Given the description of an element on the screen output the (x, y) to click on. 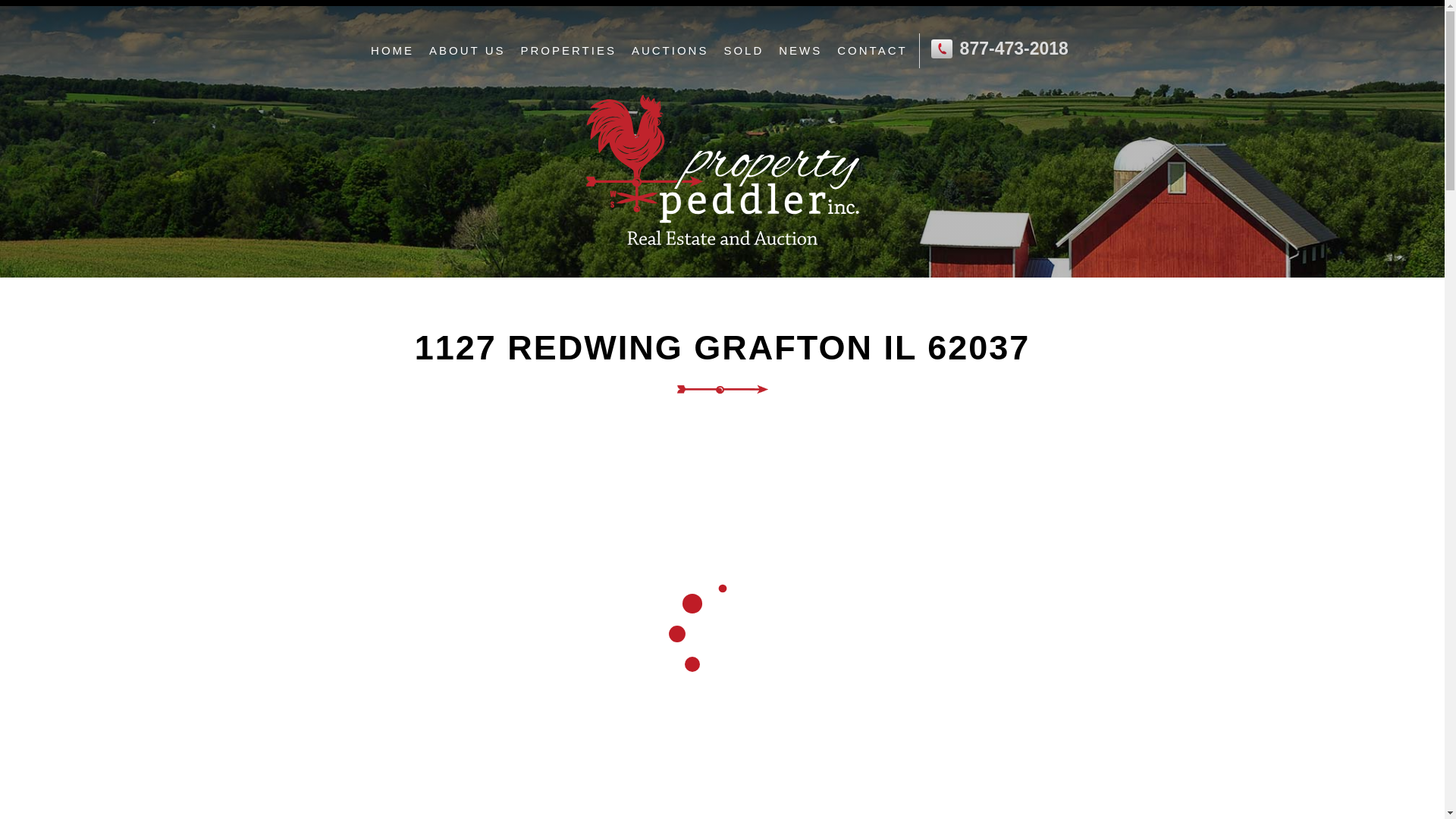
PROPERTIES (567, 50)
NEWS (800, 50)
ABOUT US (467, 50)
877-473-2018 (1013, 48)
AUCTIONS (670, 50)
HOME (392, 50)
SOLD (742, 50)
CONTACT (872, 50)
